Given the description of an element on the screen output the (x, y) to click on. 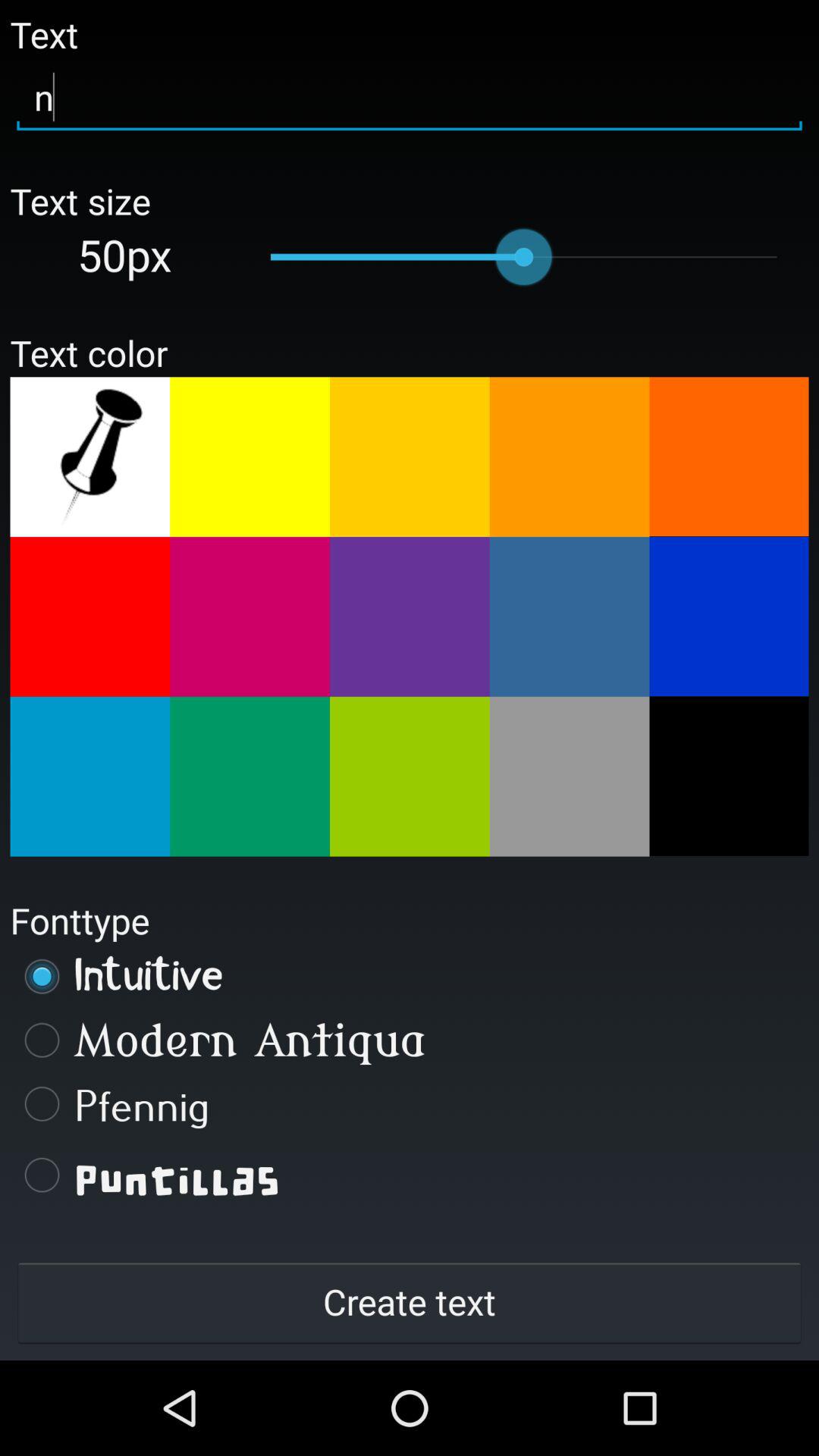
select color (249, 616)
